Given the description of an element on the screen output the (x, y) to click on. 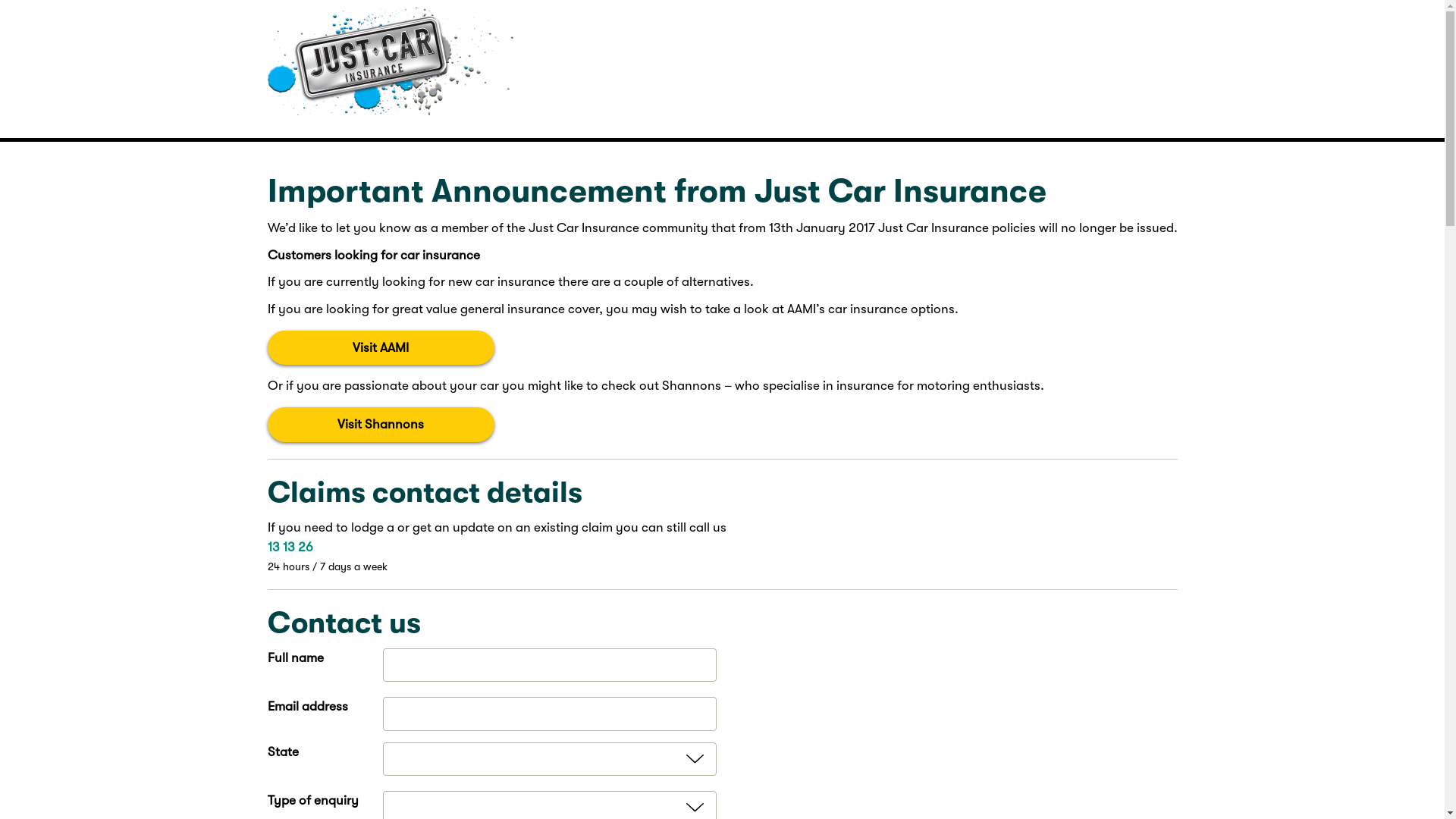
Visit AAMI Element type: text (380, 347)
Visit Shannons Element type: text (380, 424)
13 13 26 Element type: text (289, 546)
